Given the description of an element on the screen output the (x, y) to click on. 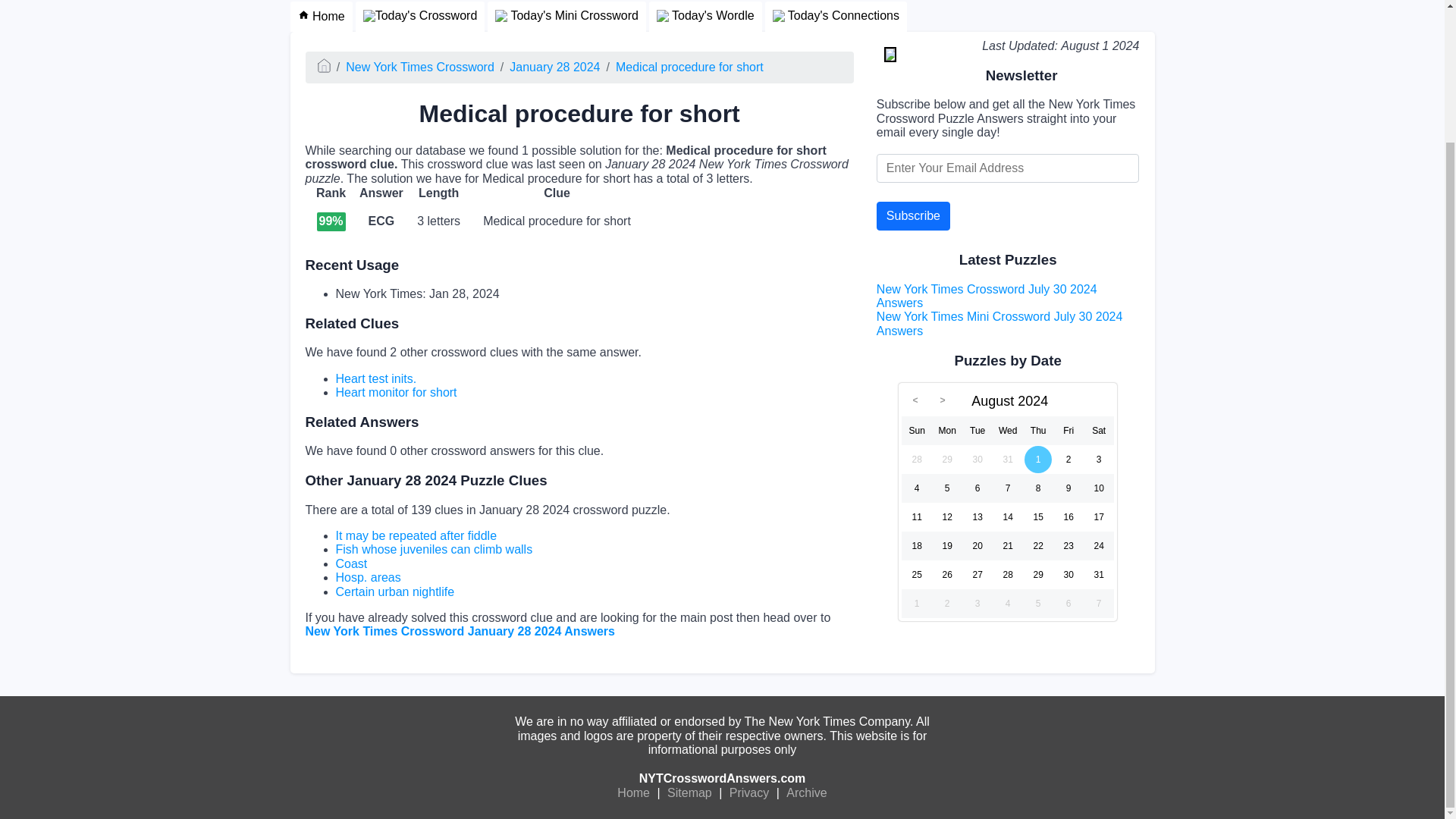
NYTCrosswordAnswers.com (722, 778)
Subscribe (913, 215)
Today's Crossword (419, 16)
Sitemap (689, 792)
Heart monitor for short (395, 391)
Home (320, 16)
January 28 2024 (554, 66)
Certain urban nightlife (394, 591)
Today's Mini Crossword (566, 16)
Subscribe (913, 215)
New York Times Crossword January 28 2024 Answers (459, 631)
Home (632, 792)
It may be repeated after fiddle (415, 535)
Today's Wordle (705, 16)
Privacy (749, 792)
